Given the description of an element on the screen output the (x, y) to click on. 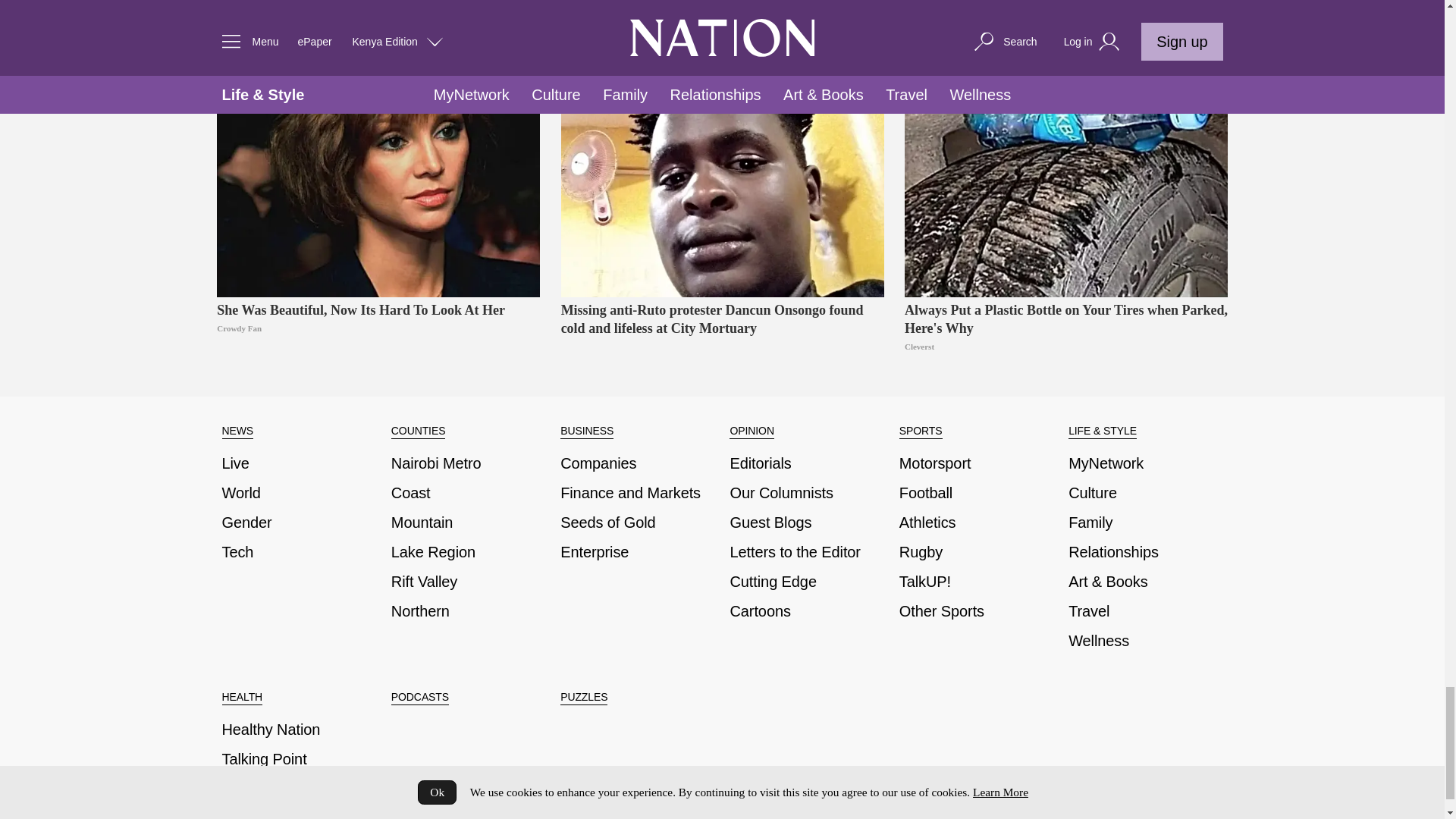
She Was Beautiful, Now Its Hard To Look At Her (378, 162)
